Given the description of an element on the screen output the (x, y) to click on. 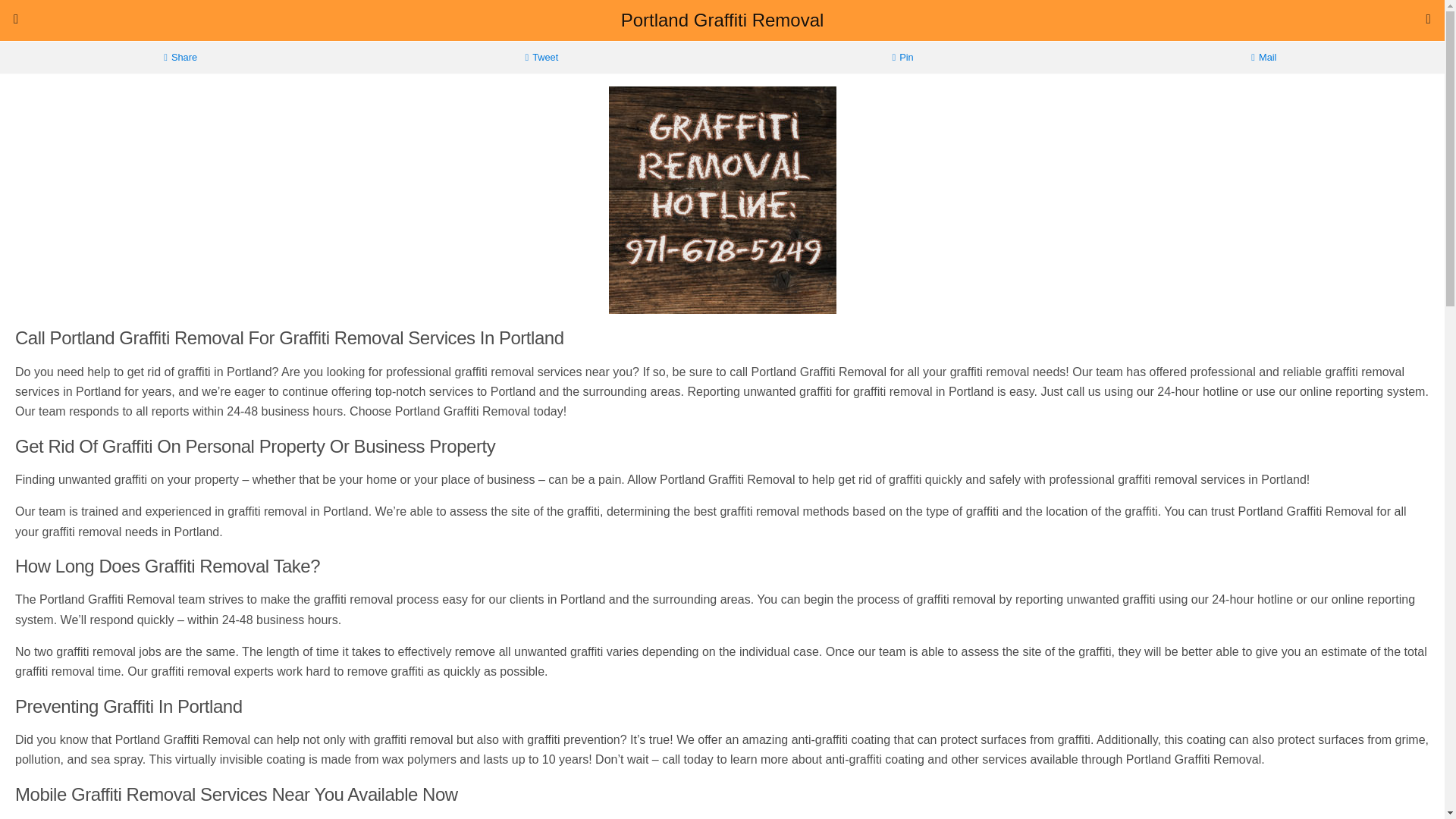
Portland Graffiti Removal (721, 20)
Search (1230, 54)
Share (180, 57)
Tweet (541, 57)
Pin (902, 57)
